Given the description of an element on the screen output the (x, y) to click on. 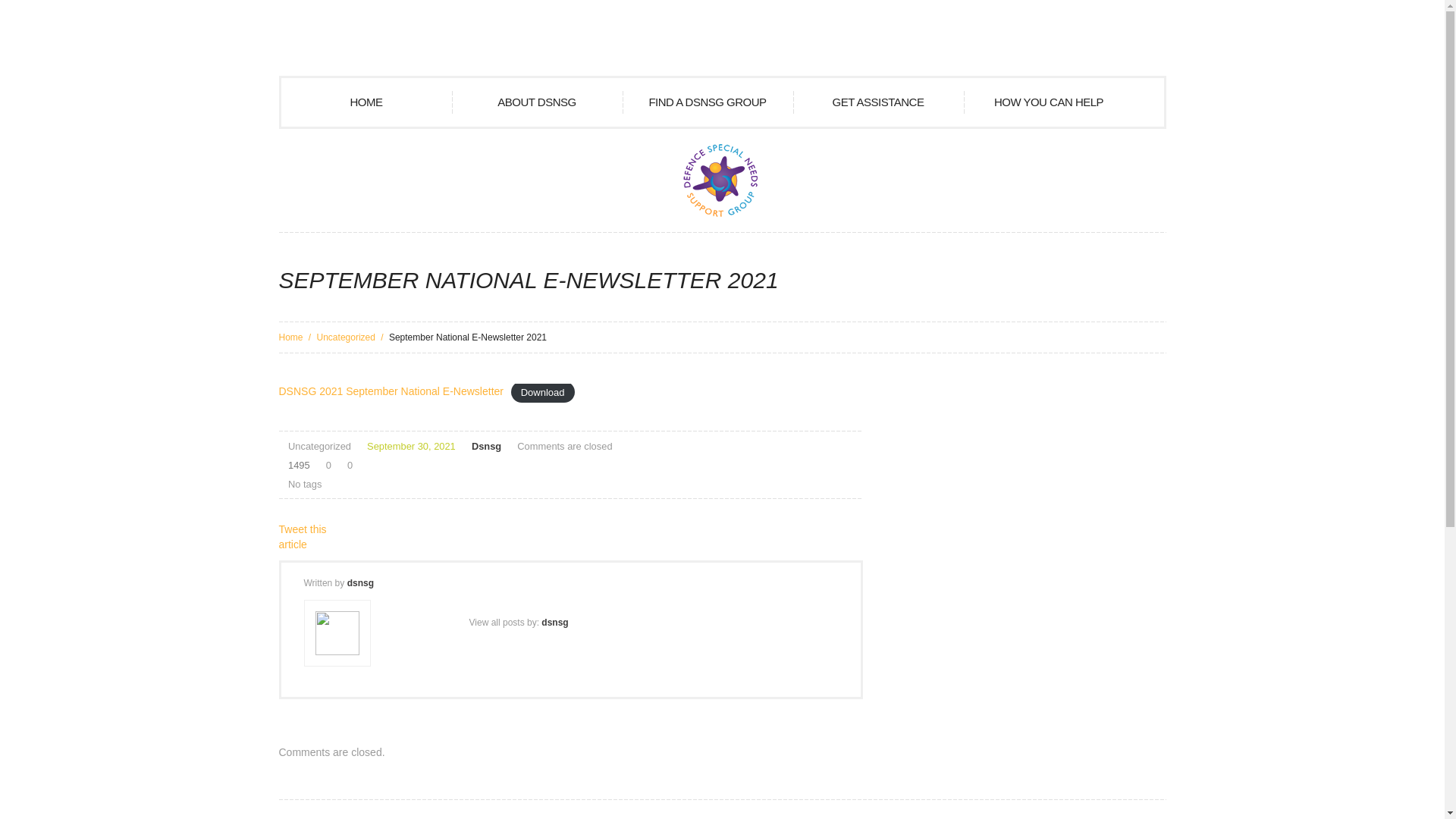
HOME Element type: text (365, 102)
Download Element type: text (542, 390)
FIND A DSNSG GROUP Element type: text (706, 102)
Uncategorized Element type: text (345, 337)
Home Element type: text (291, 337)
Dsnsg Element type: text (486, 445)
DSNSG 2021 September National E-Newsletter Element type: text (391, 391)
Tweet this article Element type: text (302, 536)
dsnsg Element type: text (360, 582)
GET ASSISTANCE Element type: text (878, 102)
0 Element type: text (325, 464)
dsnsg Element type: text (554, 622)
ABOUT DSNSG Element type: text (536, 102)
Uncategorized Element type: text (319, 445)
HOW YOU CAN HELP Element type: text (1048, 102)
0 Element type: text (346, 464)
